Given the description of an element on the screen output the (x, y) to click on. 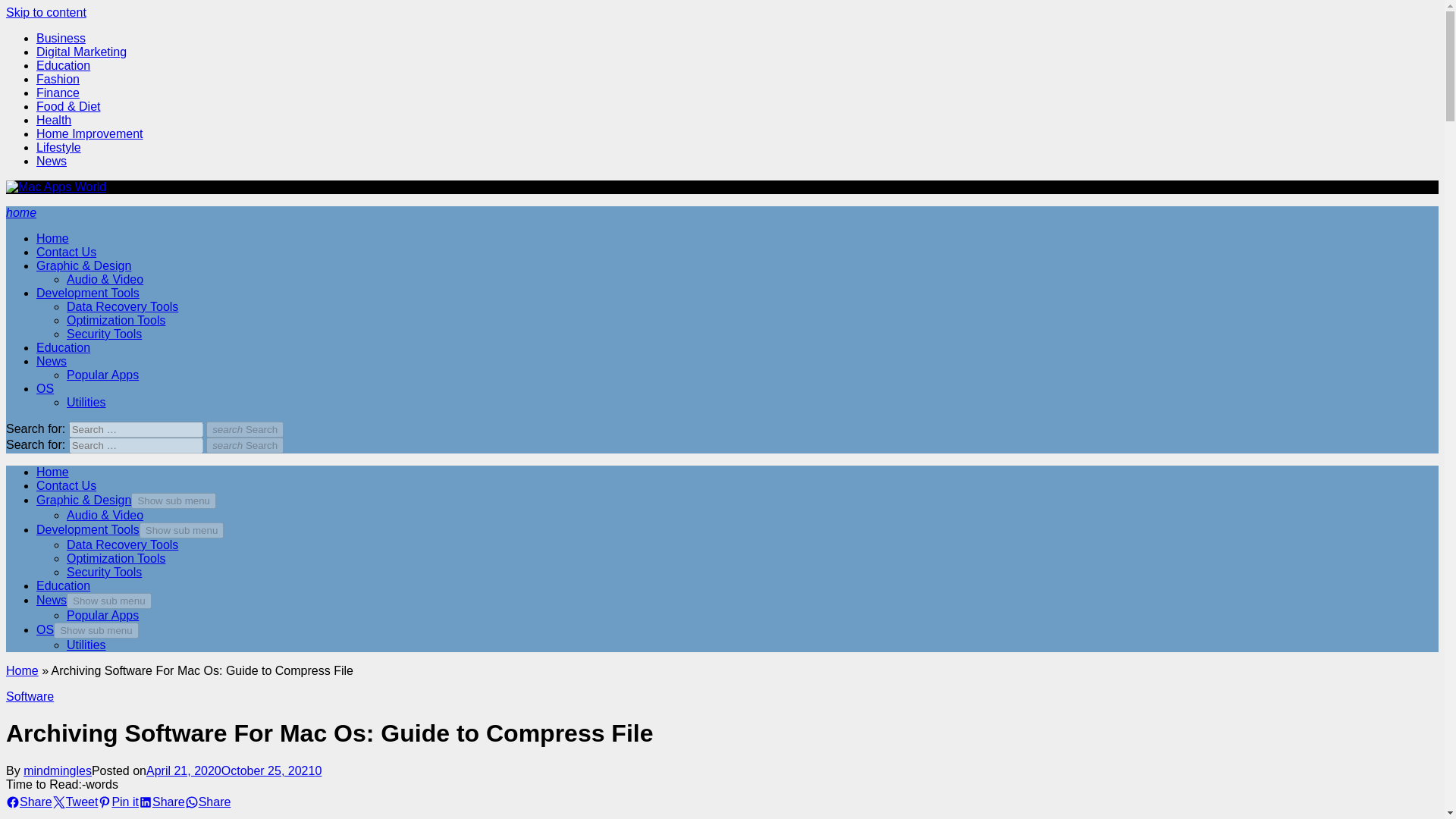
Finance (58, 92)
Share on WhatsApp (207, 802)
search Search (244, 429)
News (51, 360)
OS (44, 388)
Lifestyle (58, 146)
Share on Facebook (28, 802)
News (51, 160)
home (20, 212)
Home (52, 472)
Business (60, 38)
Home (52, 237)
Optimization Tools (115, 319)
News (51, 599)
Development Tools (87, 529)
